Given the description of an element on the screen output the (x, y) to click on. 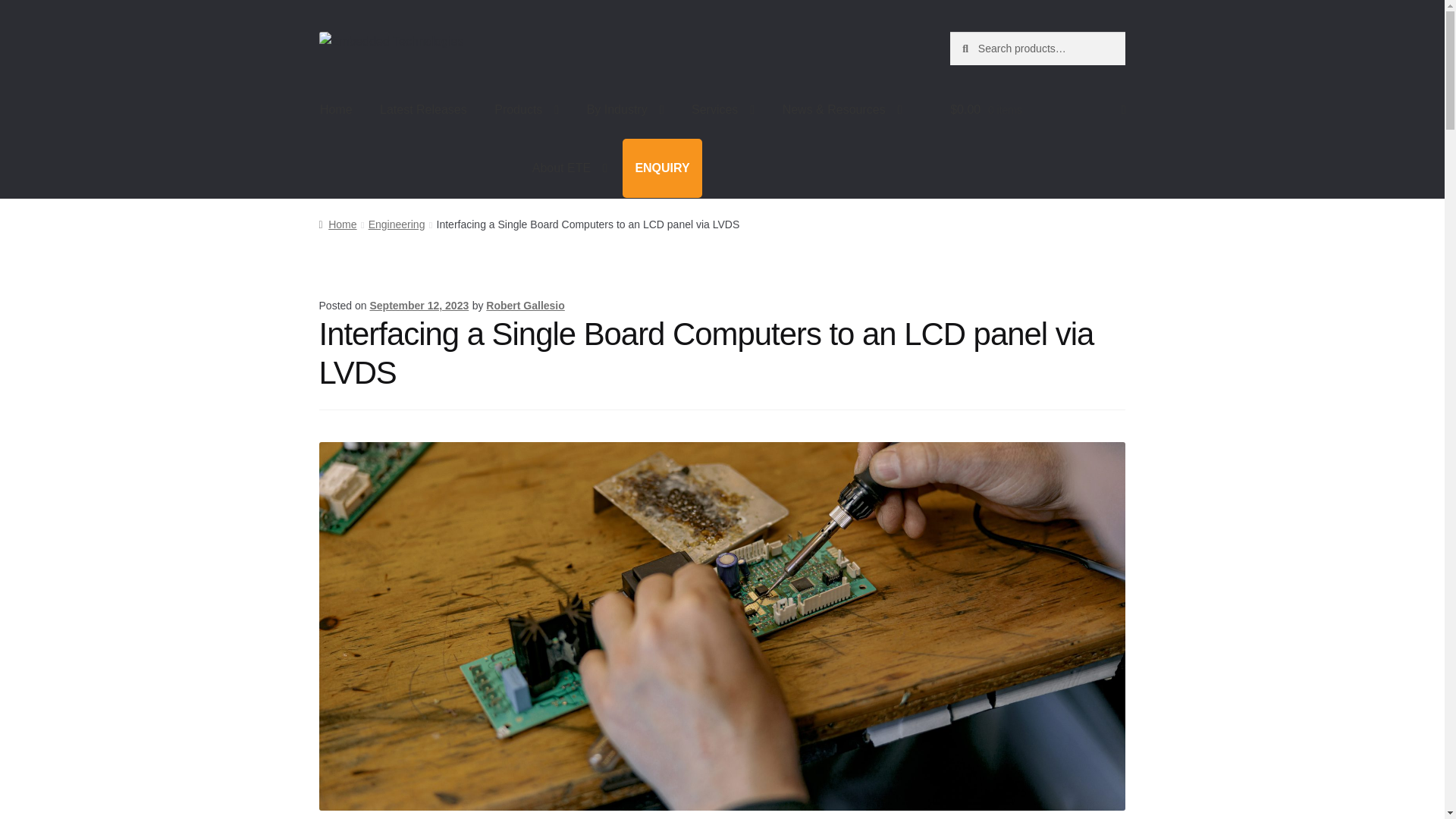
Latest Releases (423, 109)
Products (525, 109)
Home (336, 109)
View your shopping cart (1037, 109)
By Industry (626, 109)
Services (723, 109)
About ETE (569, 168)
